Given the description of an element on the screen output the (x, y) to click on. 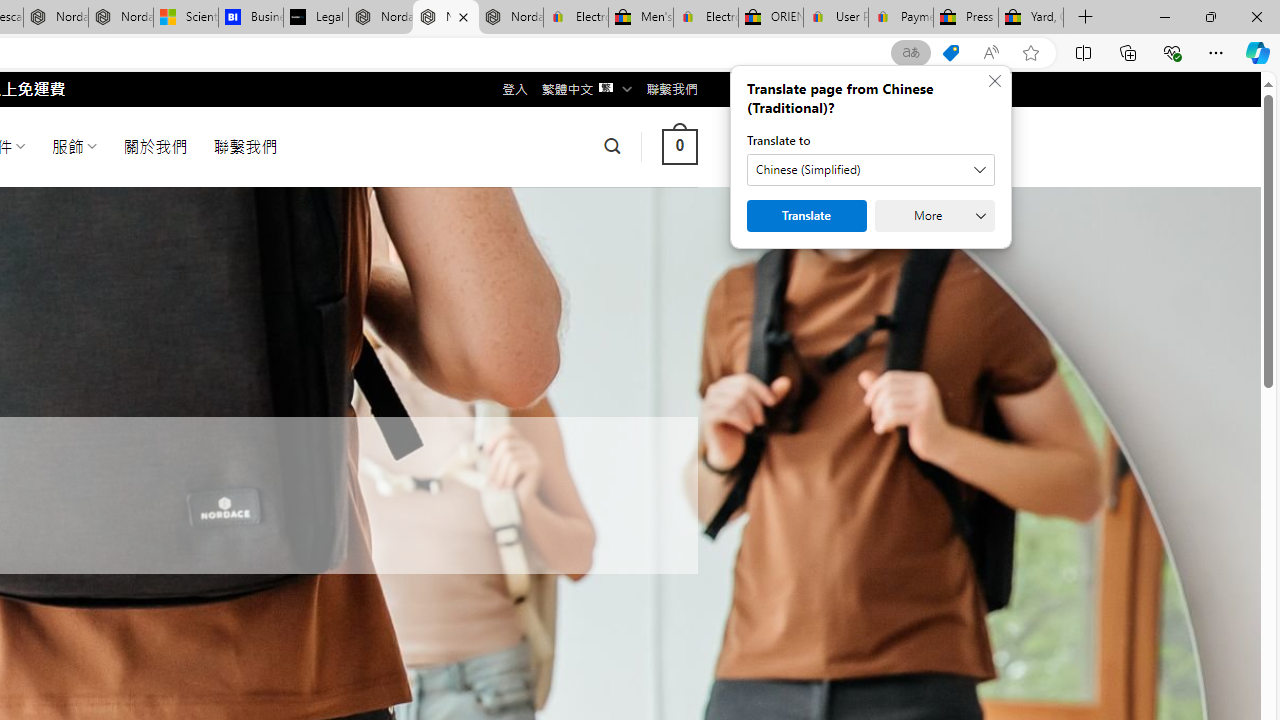
Translate to (870, 169)
More (934, 215)
